Given the description of an element on the screen output the (x, y) to click on. 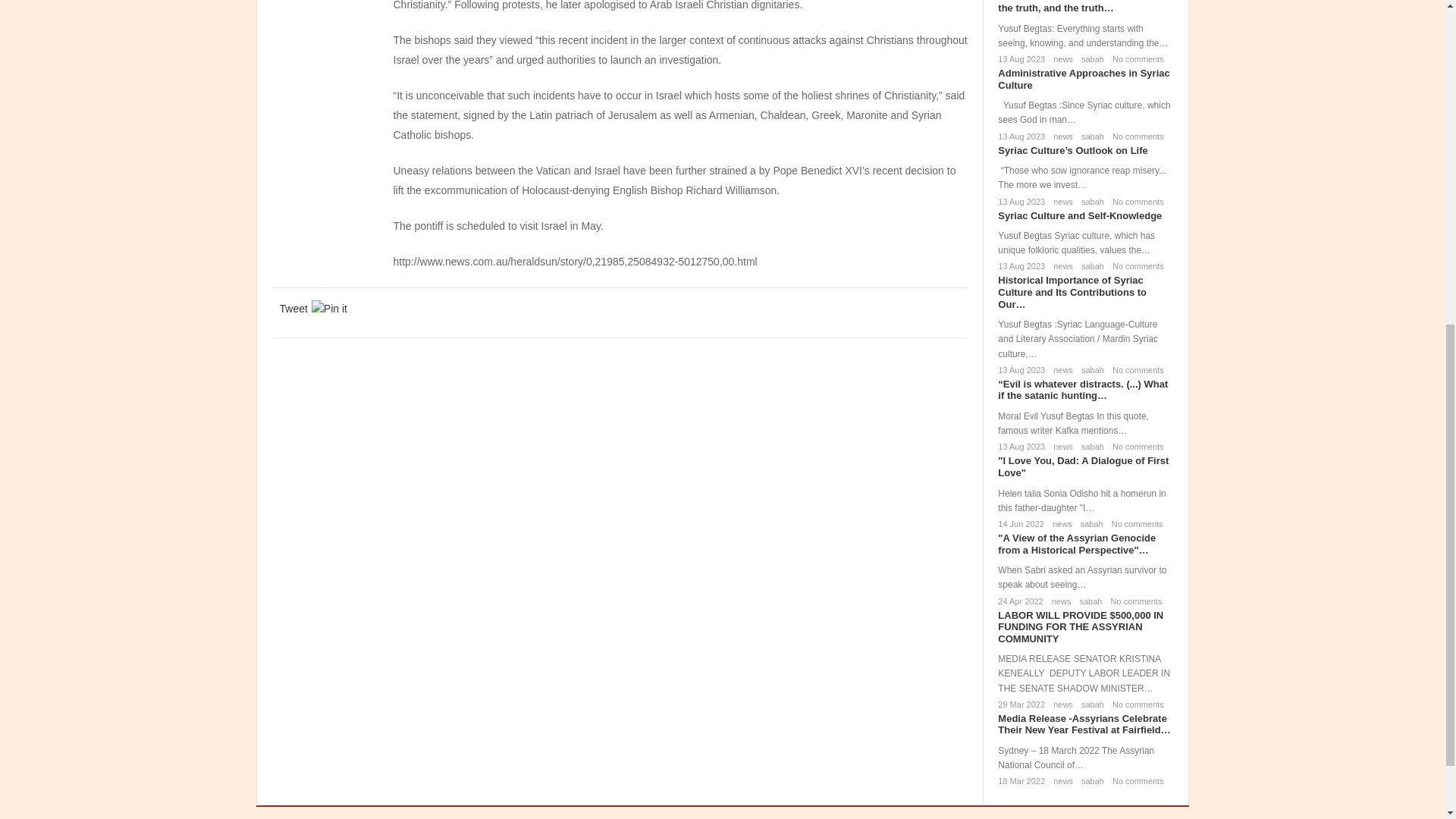
Pin it (329, 308)
Administrative Approaches in Syriac Culture (1083, 78)
Tweet (293, 308)
I Love You, Dad: A Dialogue of First Love (1083, 466)
